Given the description of an element on the screen output the (x, y) to click on. 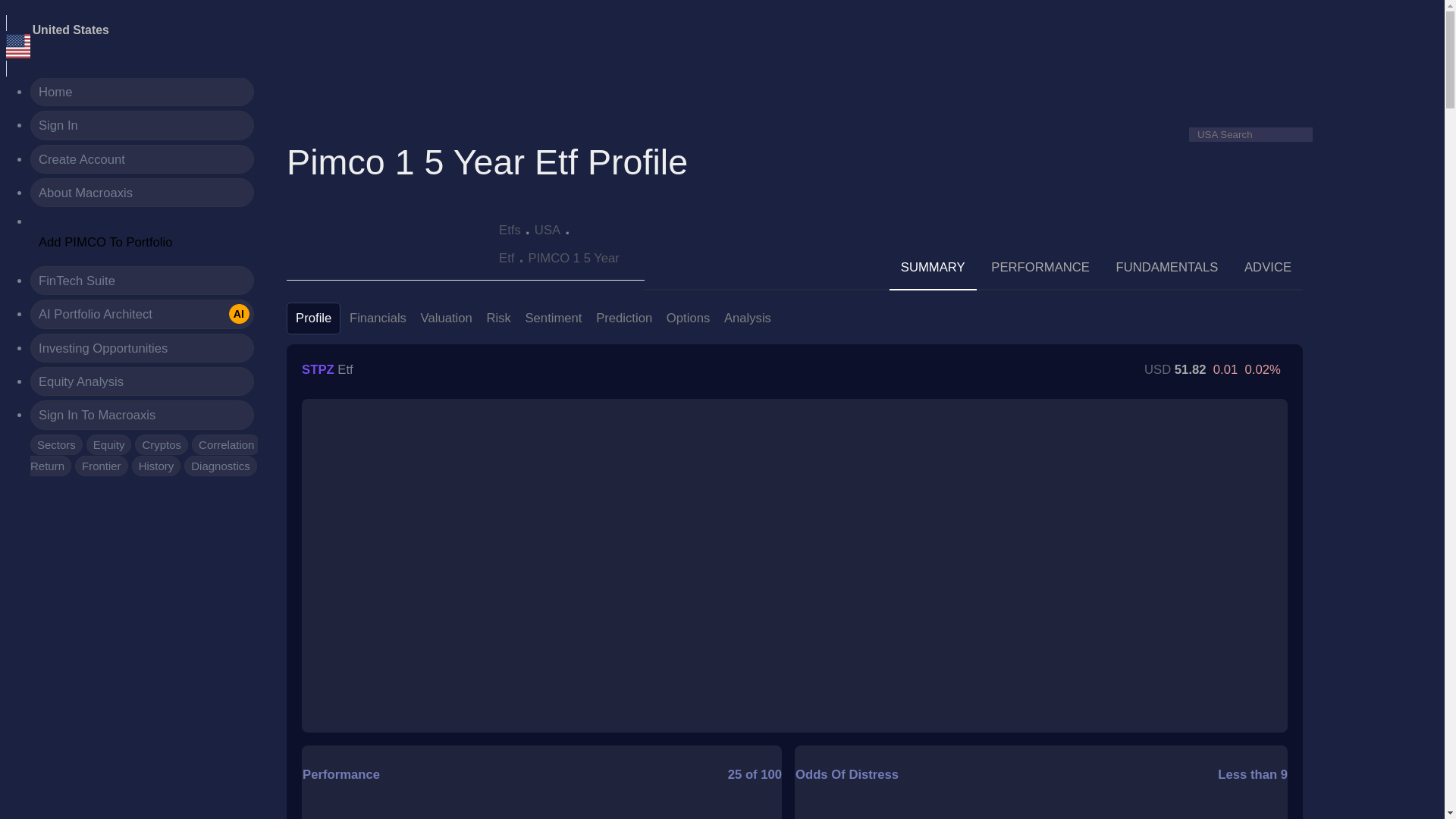
Cryptos (161, 444)
About Macroaxis (141, 192)
Macroaxis Privacy Policy (334, 10)
Sign In To Macroaxis (141, 414)
FinTech Suite (141, 280)
United States (141, 313)
OK (70, 29)
Correlation (13, 35)
Sectors (226, 444)
Select Your Market (56, 444)
Investing Opportunities (70, 29)
Sign In (141, 347)
Equity (141, 124)
Add PIMCO To Portfolio (108, 444)
